Given the description of an element on the screen output the (x, y) to click on. 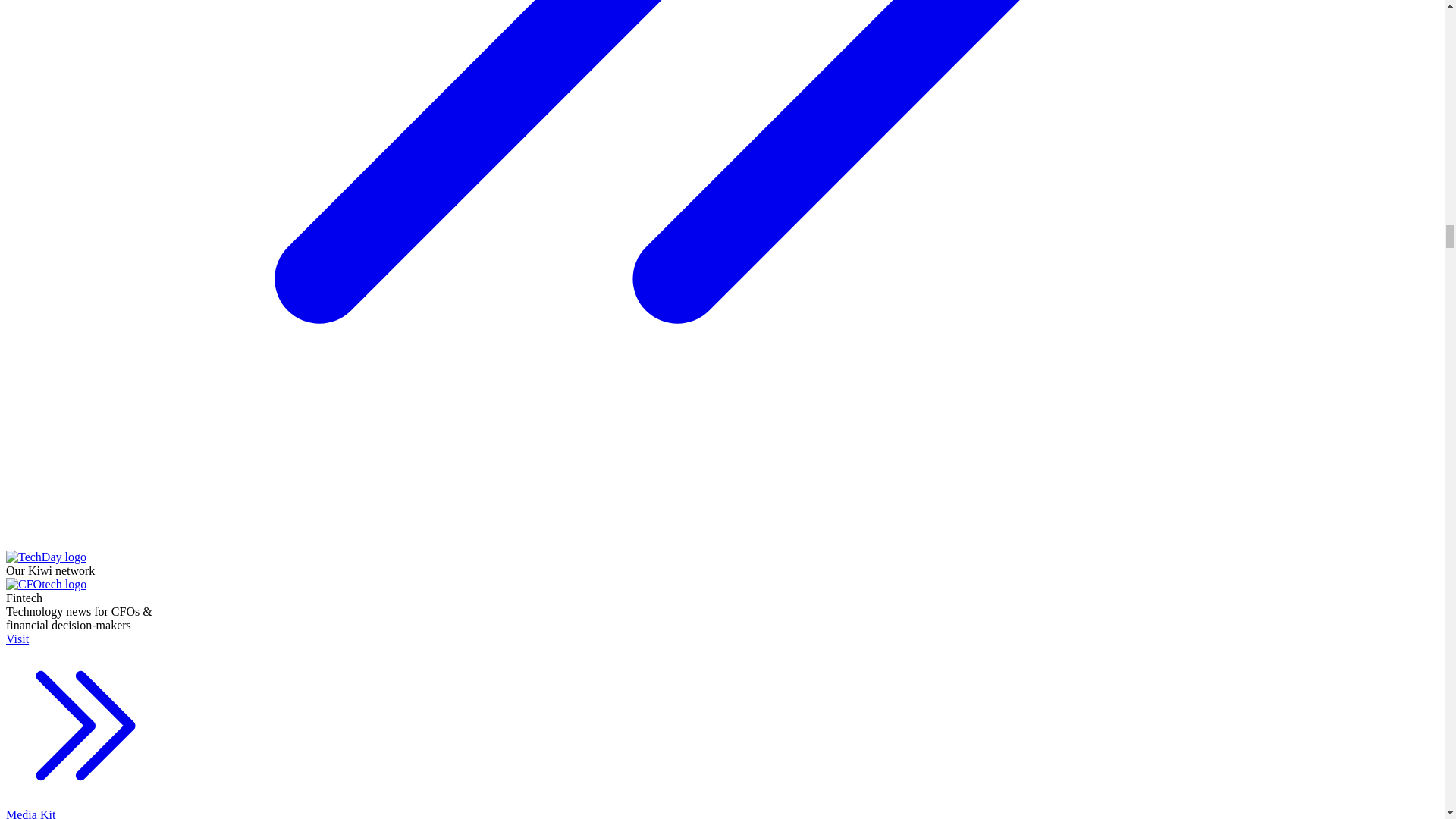
Media Kit (85, 813)
Visit (85, 720)
